Given the description of an element on the screen output the (x, y) to click on. 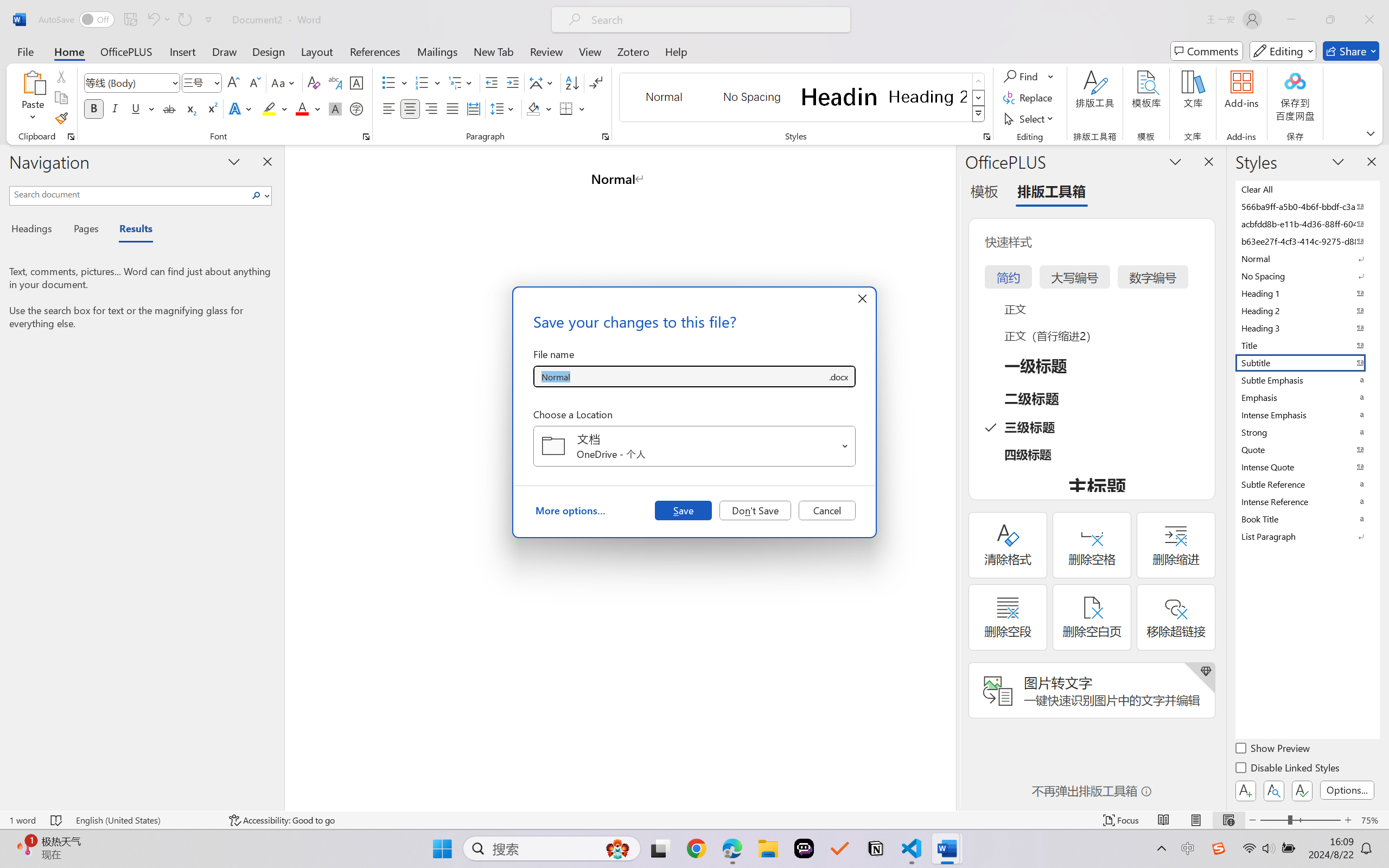
Text Effects and Typography (241, 108)
Italic (115, 108)
Save (682, 509)
Zoom In (1348, 819)
Underline (135, 108)
Font Size (201, 82)
Styles... (986, 136)
Multilevel List (461, 82)
Ribbon Display Options (1370, 132)
